Given the description of an element on the screen output the (x, y) to click on. 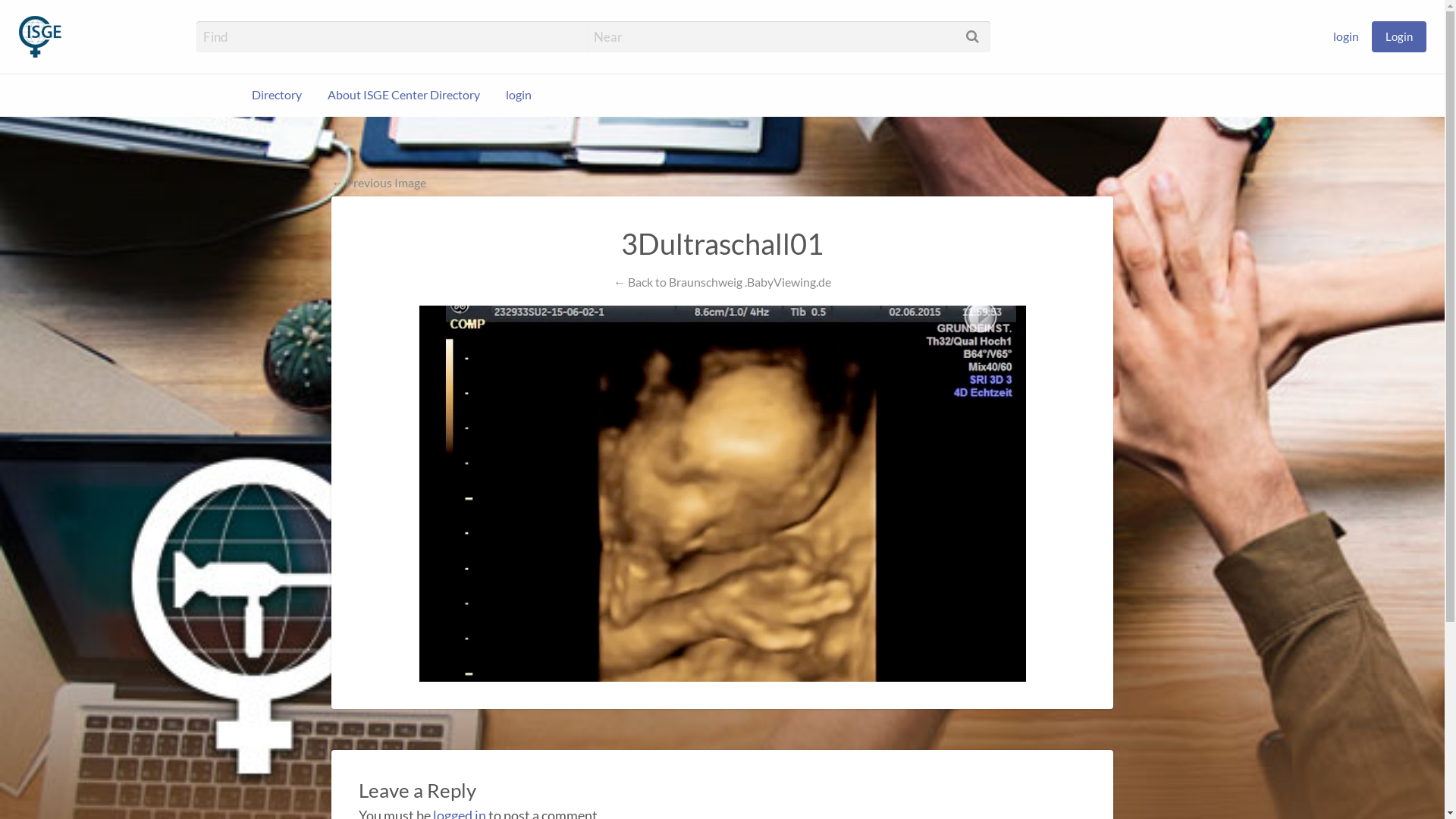
login Element type: text (1345, 36)
Directory Element type: text (276, 94)
login Element type: text (518, 94)
Login Element type: text (1398, 36)
Search Element type: text (29, 16)
ISGE.Center Element type: text (164, 31)
About ISGE Center Directory Element type: text (403, 94)
